Given the description of an element on the screen output the (x, y) to click on. 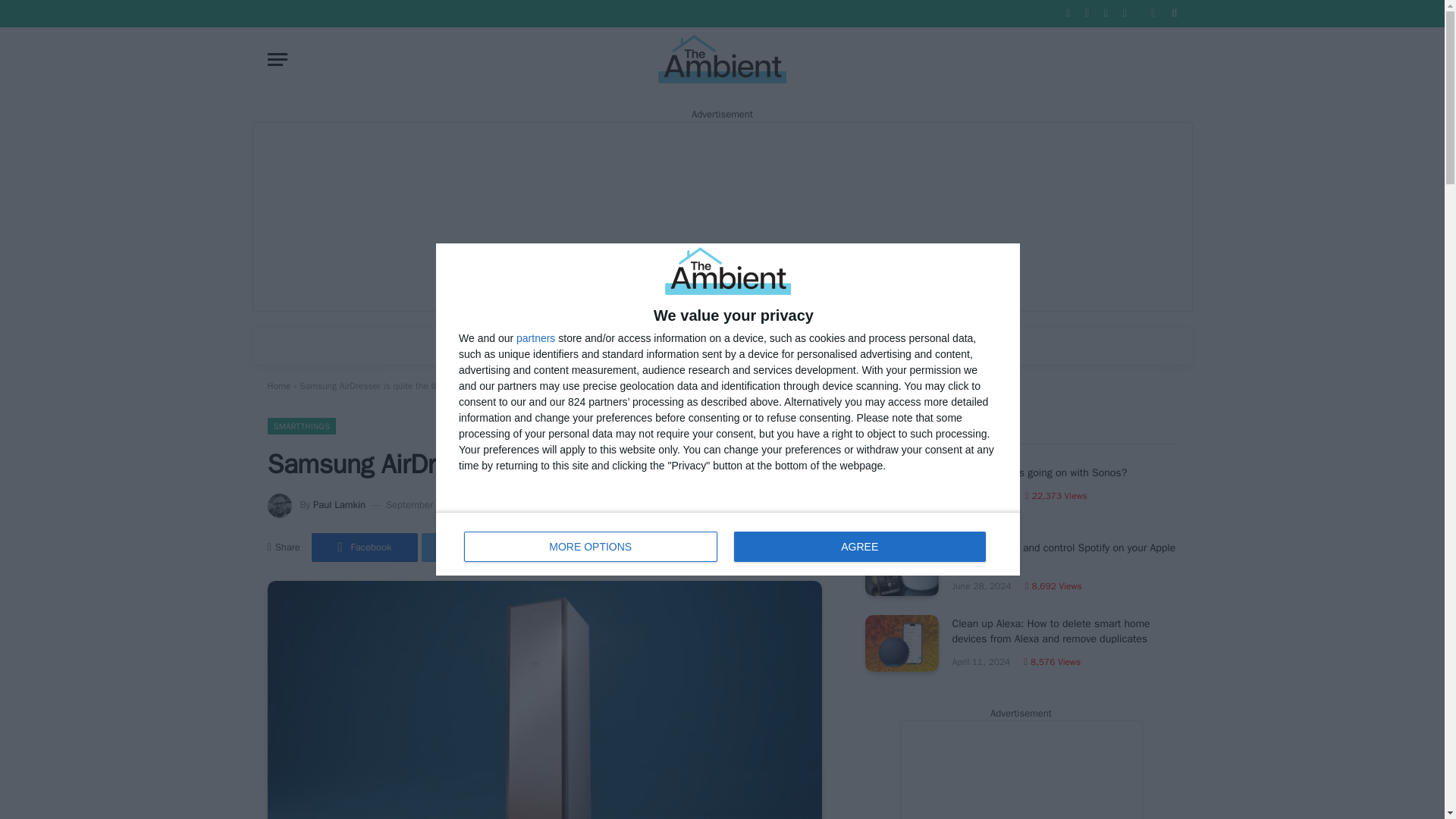
Posts by Paul Lamkin (339, 504)
Switch to Dark Design - easier on eyes. (1152, 13)
AGREE (859, 546)
The Ambient (721, 59)
Share via Email (695, 547)
Samsung AirDresser is quite the thing (544, 699)
partners (727, 543)
Share on LinkedIn (535, 337)
MORE OPTIONS (584, 547)
Share on Facebook (590, 546)
